Given the description of an element on the screen output the (x, y) to click on. 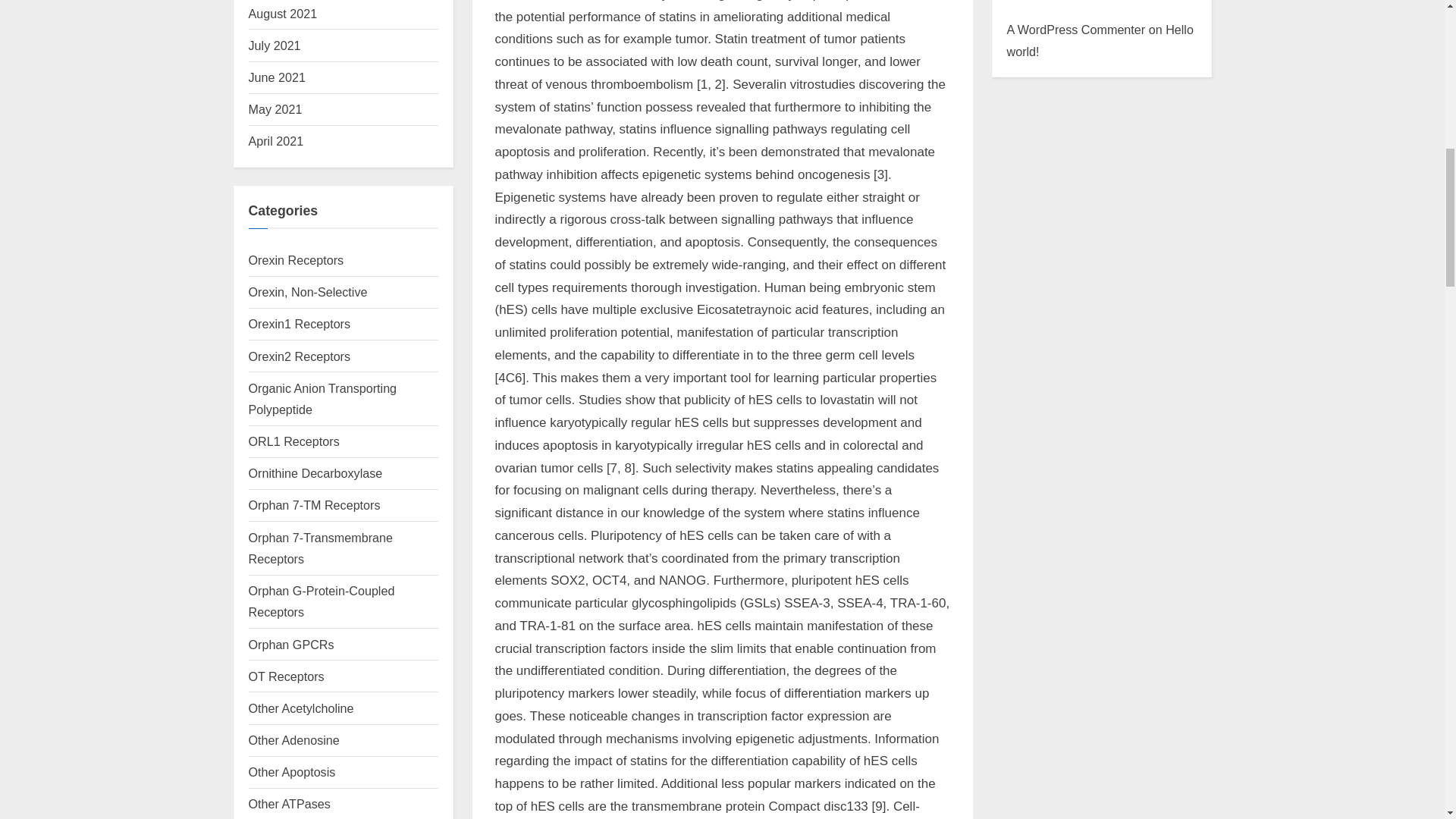
July 2021 (274, 45)
Orexin, Non-Selective (308, 291)
August 2021 (282, 13)
Orexin2 Receptors (299, 355)
May 2021 (275, 109)
Organic Anion Transporting Polypeptide (322, 398)
Orexin Receptors (295, 259)
June 2021 (276, 77)
Orexin1 Receptors (299, 323)
April 2021 (276, 141)
